Given the description of an element on the screen output the (x, y) to click on. 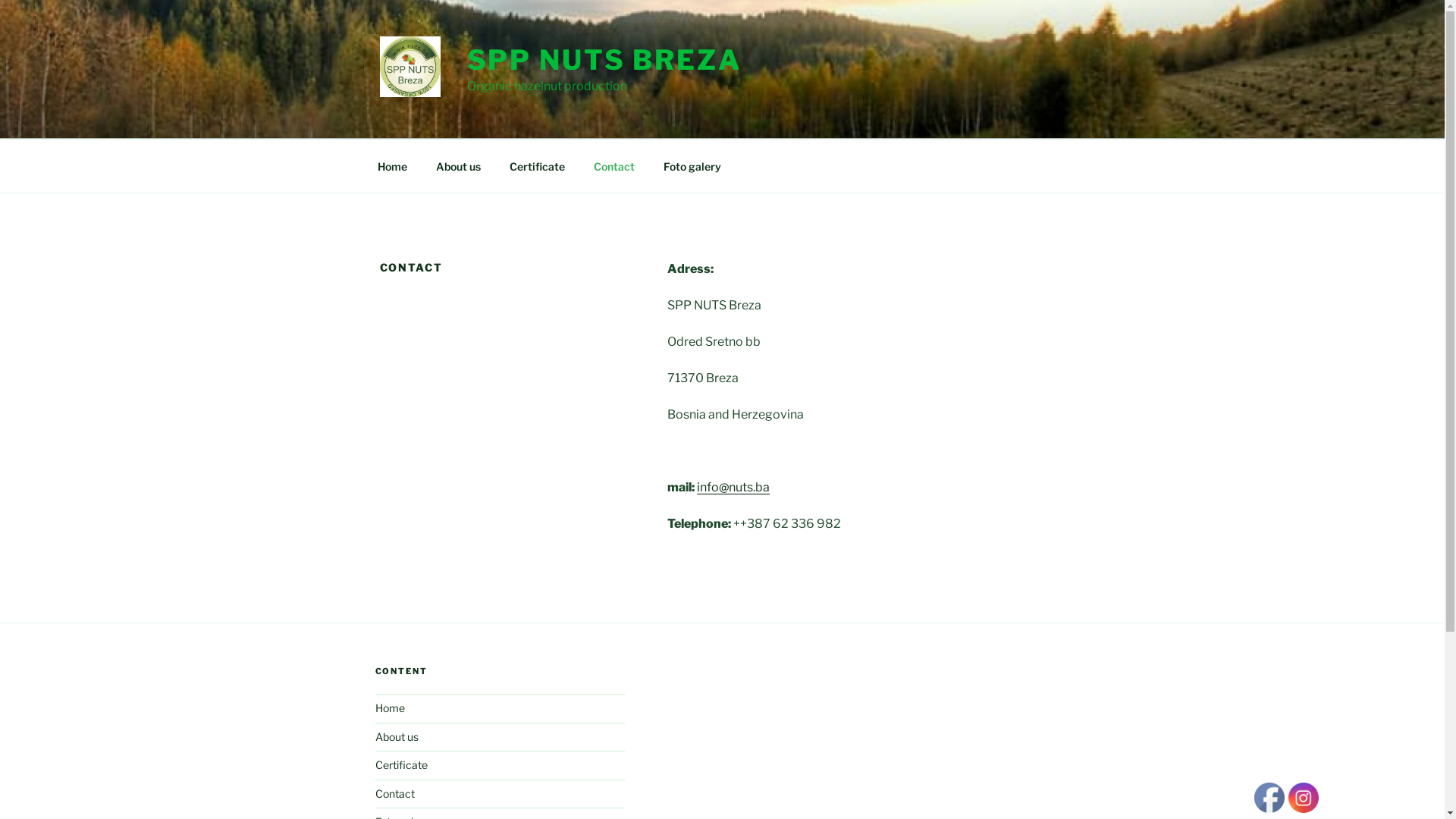
info@nuts.ba Element type: text (732, 487)
About us Element type: text (395, 736)
Certificate Element type: text (536, 165)
Foto galery Element type: text (692, 165)
About us Element type: text (458, 165)
Instagram Element type: hover (1303, 797)
Home Element type: text (392, 165)
Contact Element type: text (614, 165)
Facebook Element type: hover (1269, 797)
SPP NUTS BREZA Element type: text (604, 59)
Home Element type: text (389, 707)
Certificate Element type: text (400, 764)
Contact Element type: text (394, 793)
